Given the description of an element on the screen output the (x, y) to click on. 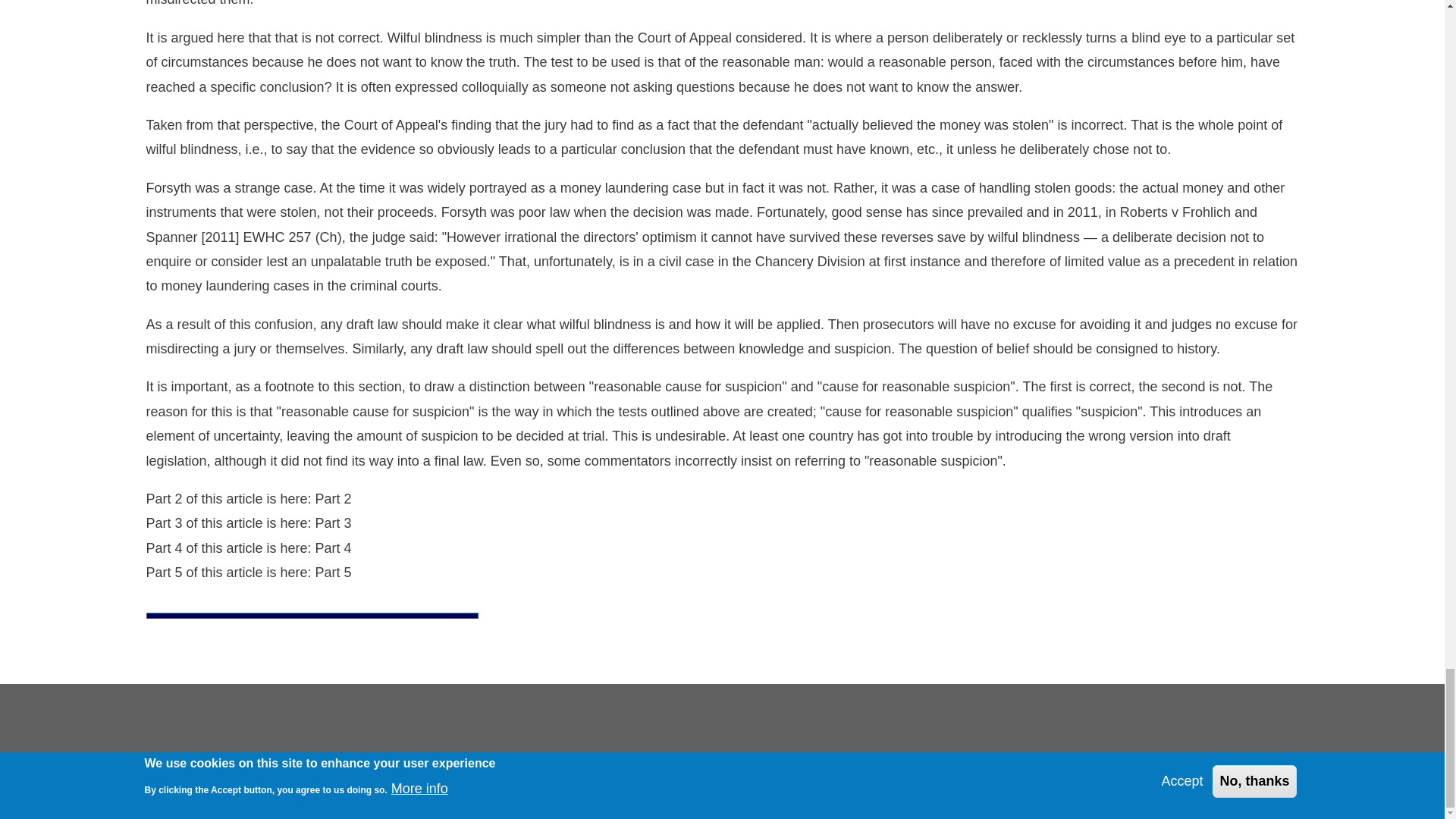
Part 2 (333, 498)
Part 3 (333, 522)
Alaa Haddad (1276, 794)
Part 5 (333, 572)
Alaa Haddad (1276, 794)
Part 4 (333, 548)
